Given the description of an element on the screen output the (x, y) to click on. 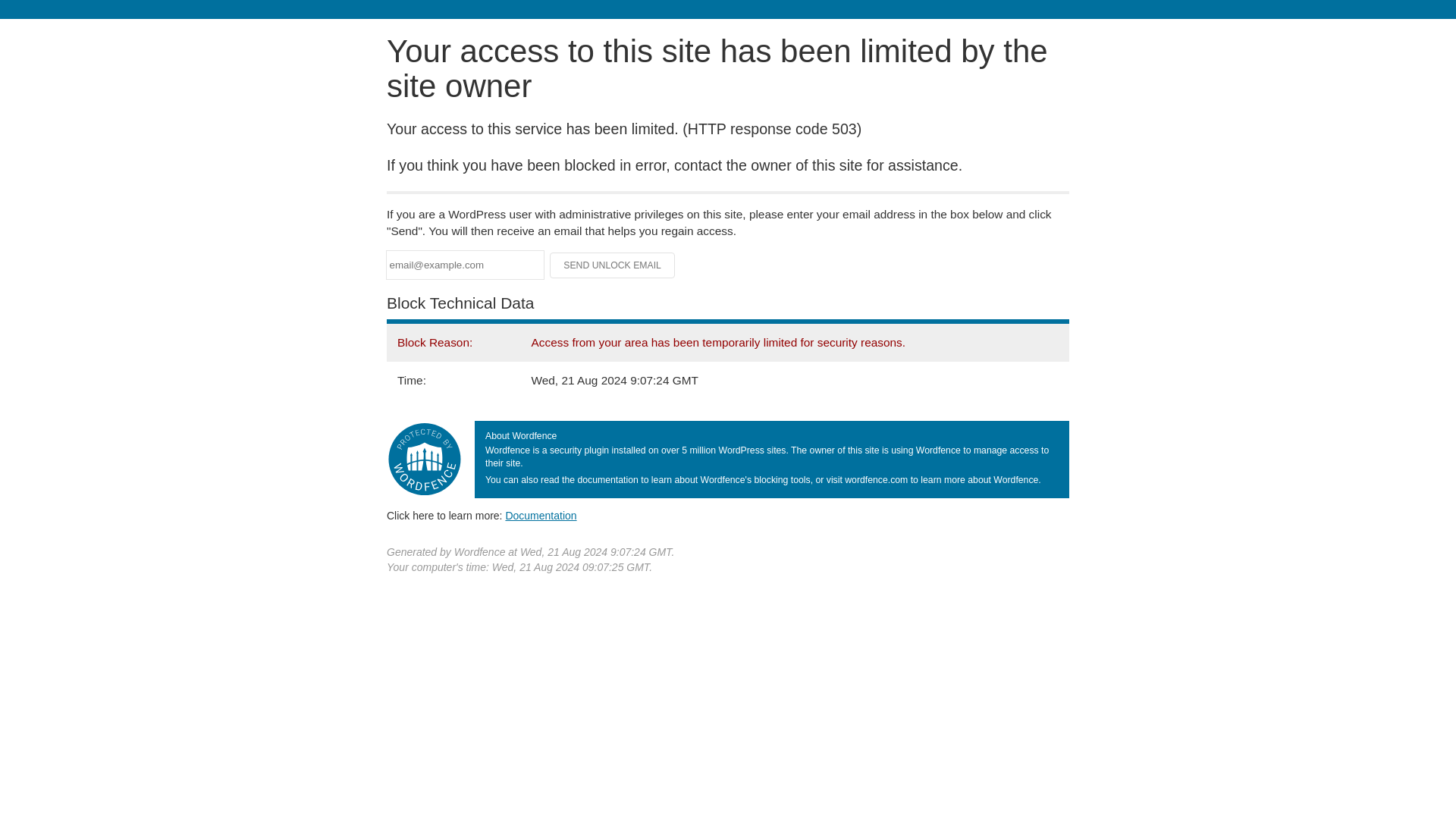
Send Unlock Email (612, 265)
Send Unlock Email (612, 265)
Documentation (540, 515)
